Given the description of an element on the screen output the (x, y) to click on. 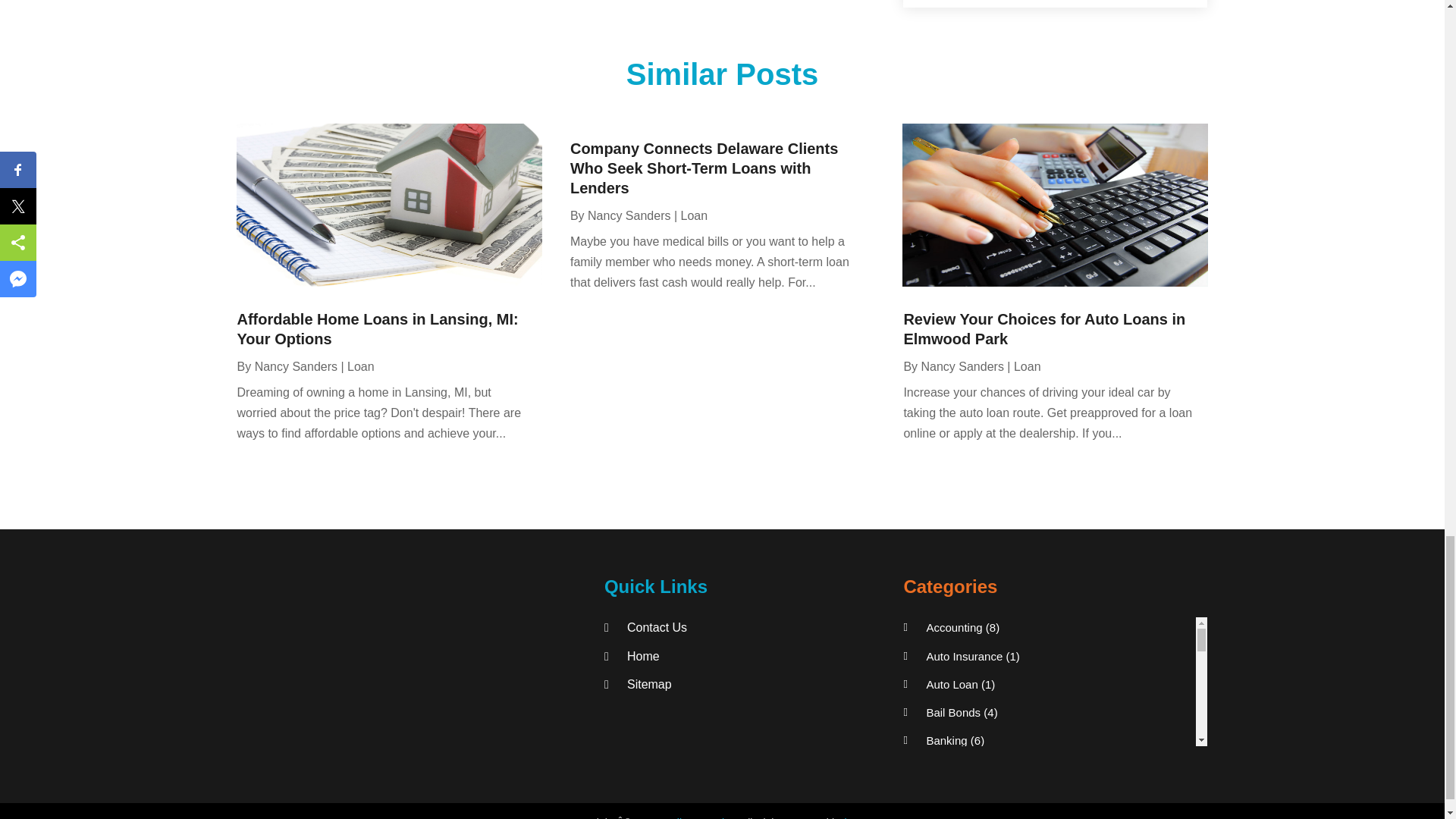
Posts by Nancy Sanders (295, 366)
Posts by Nancy Sanders (628, 215)
Posts by Nancy Sanders (961, 366)
